Given the description of an element on the screen output the (x, y) to click on. 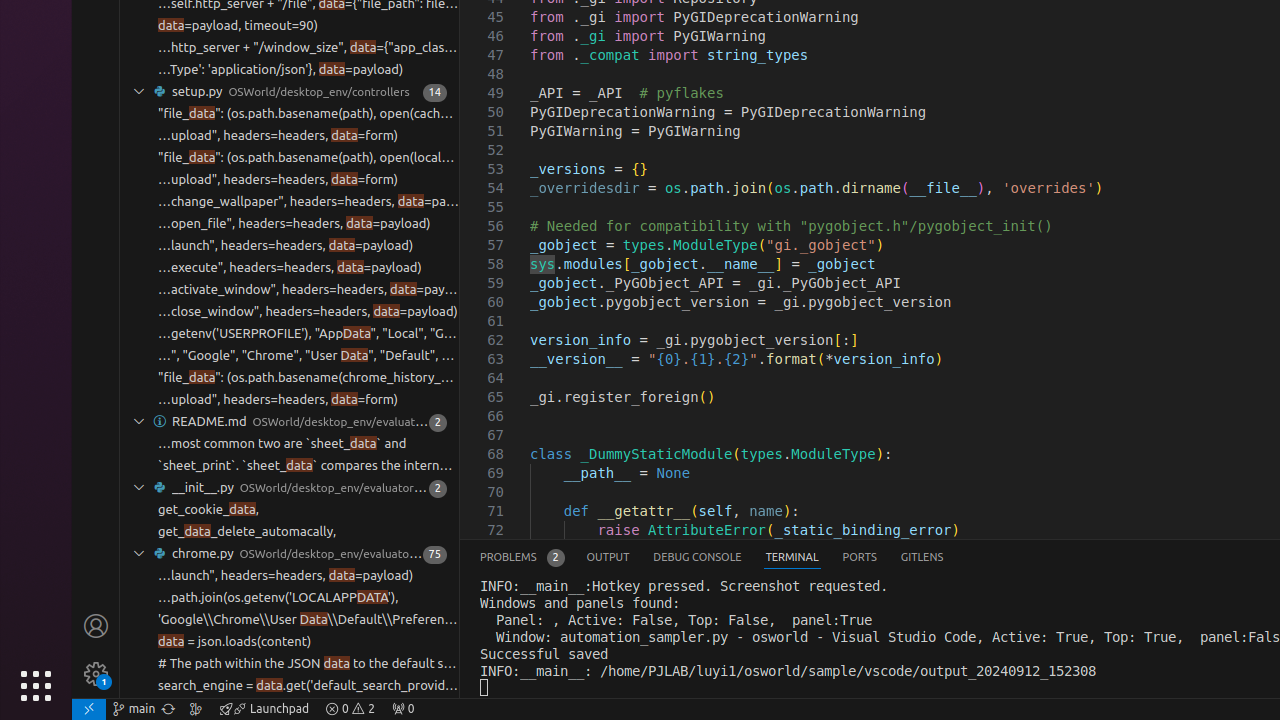
'in `compare_table` function. The most common two are `sheet_data` and' at column 61 found data Element type: tree-item (289, 443)
…activate_window", headers=headers, data=payload) Element type: link (308, 289)
data=payload, timeout=90) Element type: link (238, 25)
